Given the description of an element on the screen output the (x, y) to click on. 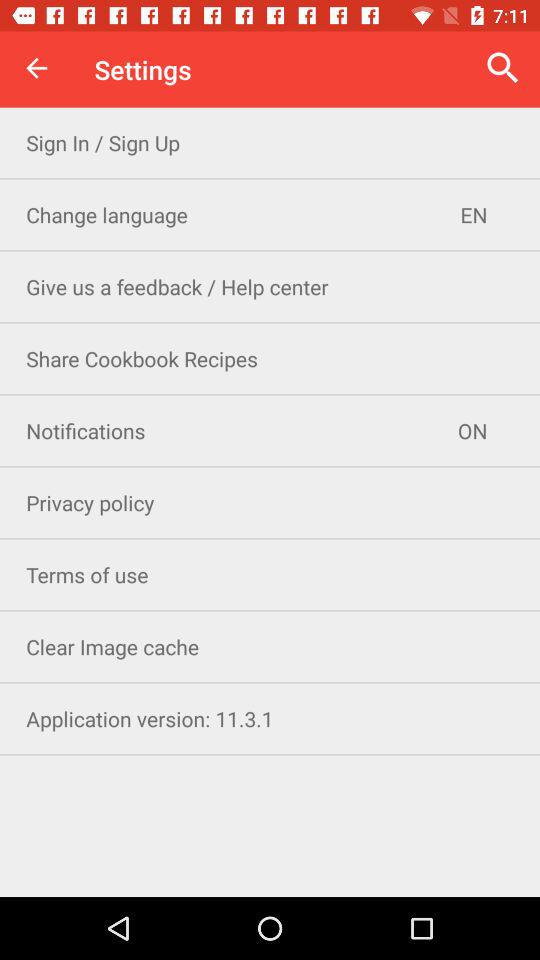
press item above sign in sign (36, 68)
